Given the description of an element on the screen output the (x, y) to click on. 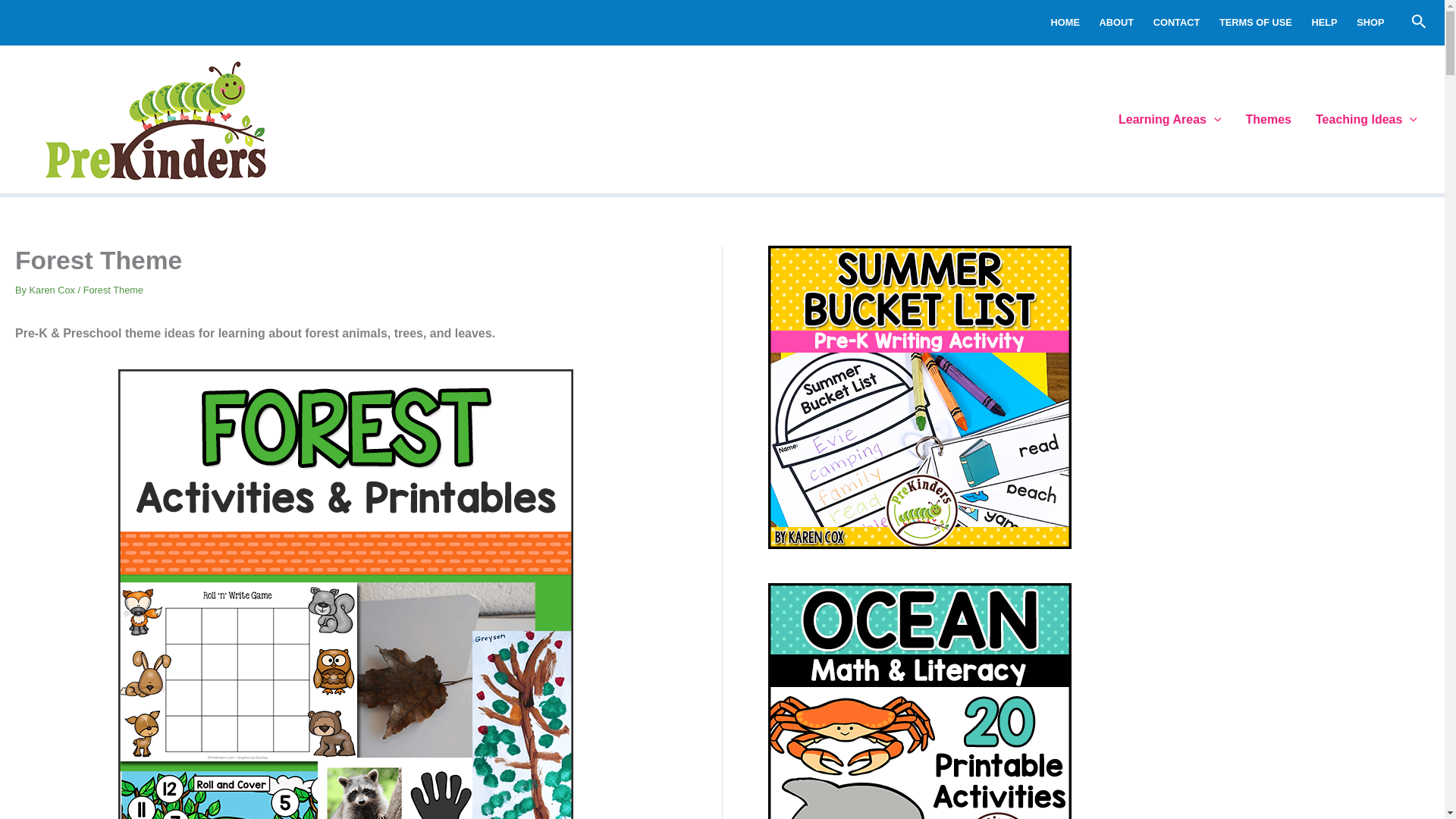
View all posts by Karen Cox (53, 289)
ABOUT (1115, 22)
HOME (1065, 22)
TERMS OF USE (1255, 22)
SHOP (1369, 22)
Teaching Ideas (1366, 119)
CONTACT (1175, 22)
Learning Areas (1169, 119)
HELP (1324, 22)
Themes (1268, 119)
